Given the description of an element on the screen output the (x, y) to click on. 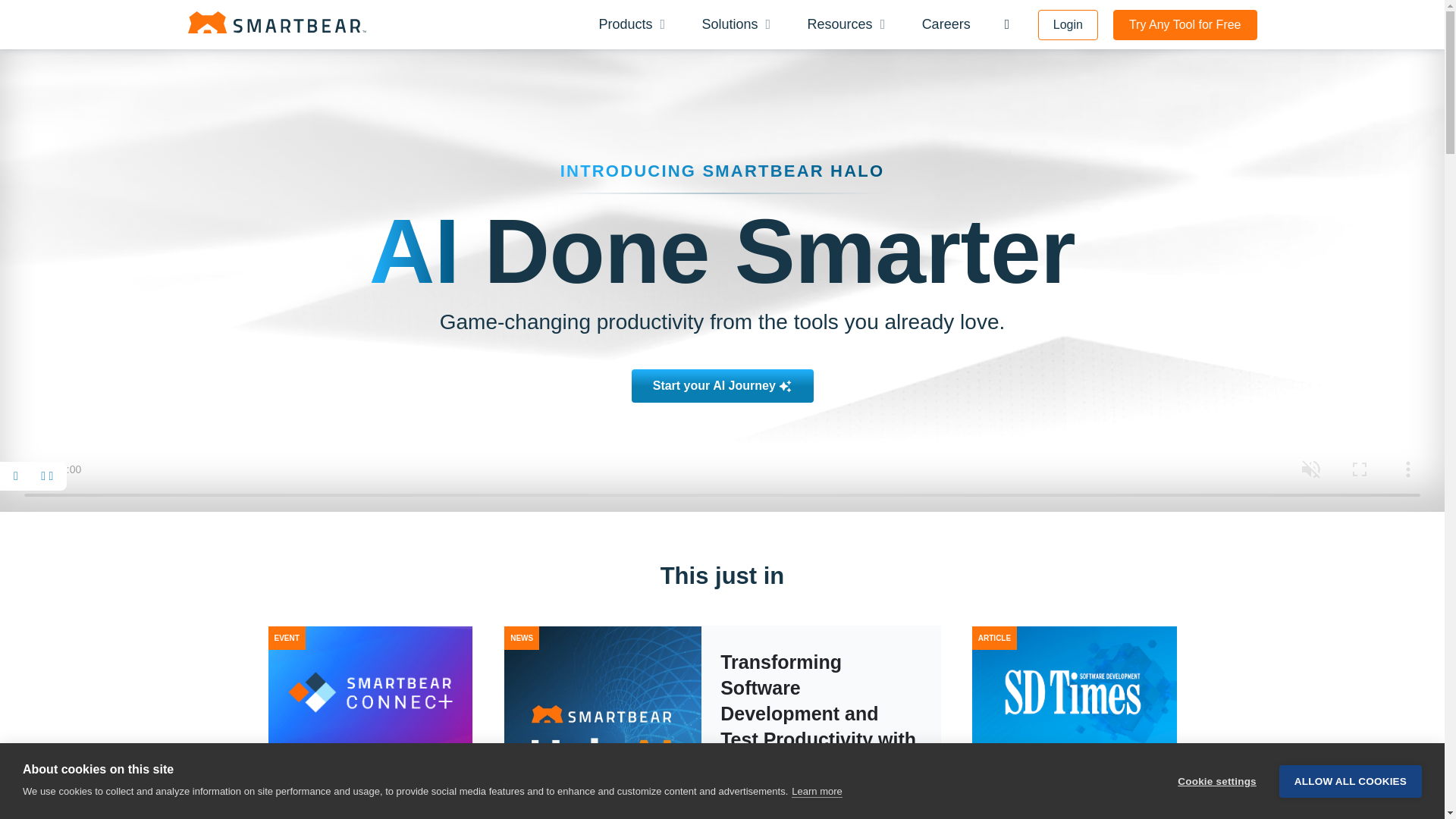
Careers (946, 24)
ALLOW ALL COOKIES (1350, 780)
Learn more (816, 793)
Cookie settings (1216, 780)
Login (1067, 24)
